Given the description of an element on the screen output the (x, y) to click on. 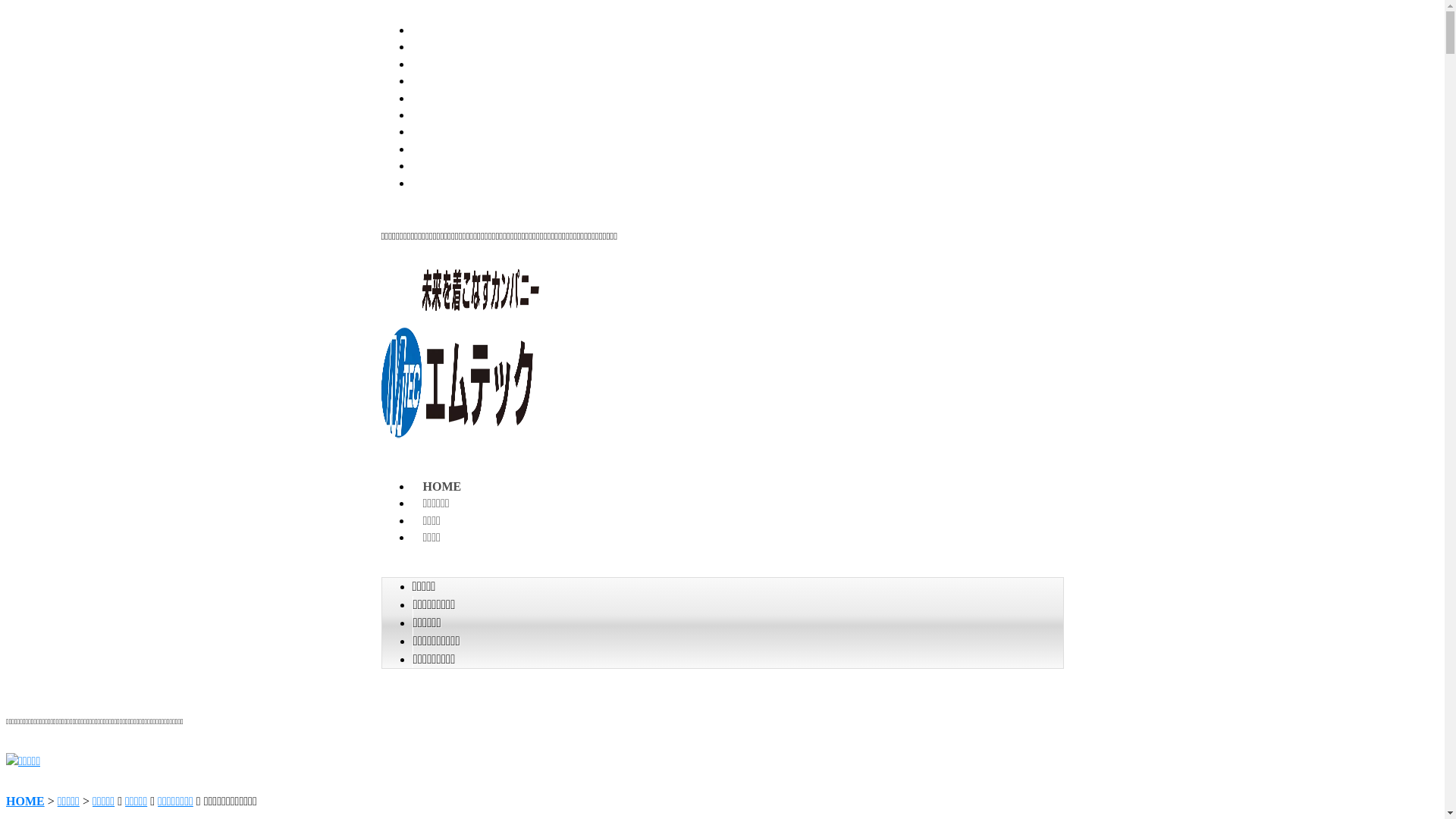
HOME Element type: text (25, 800)
HOME Element type: text (441, 486)
HOME Element type: text (442, 29)
